Given the description of an element on the screen output the (x, y) to click on. 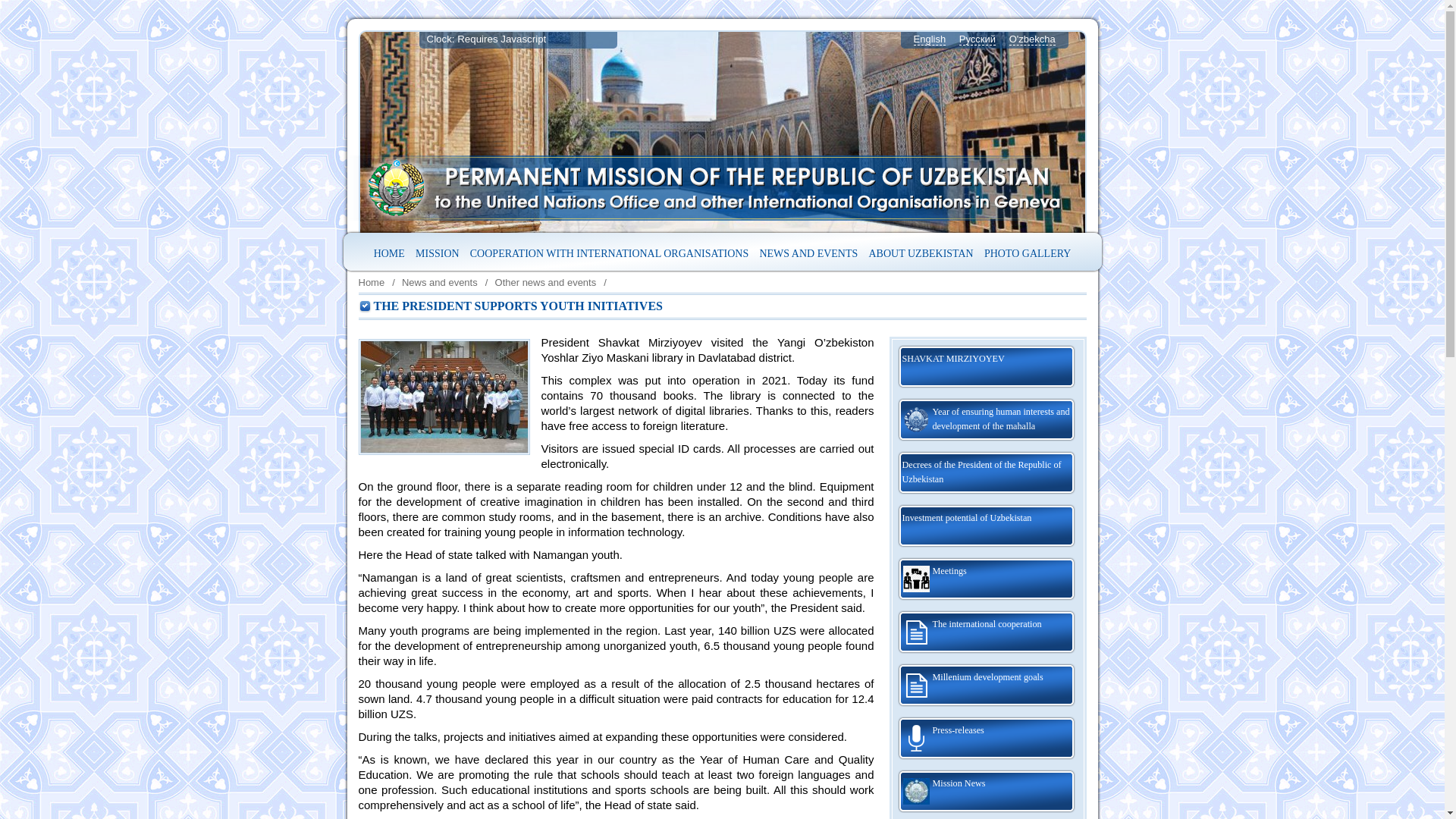
About Uzbekistan (920, 253)
NEWS AND EVENTS (808, 253)
News and events (808, 253)
PHOTO GALLERY (1026, 253)
Millenium development goals (985, 685)
Press-releases (985, 738)
Clock: Requires Javascript (517, 39)
Mission News (985, 791)
SHAVKAT MIRZIYOYEV (985, 366)
SHAVKAT MIRZIYOYEV (985, 366)
O'Zbekcha (1032, 39)
English (928, 39)
